Given the description of an element on the screen output the (x, y) to click on. 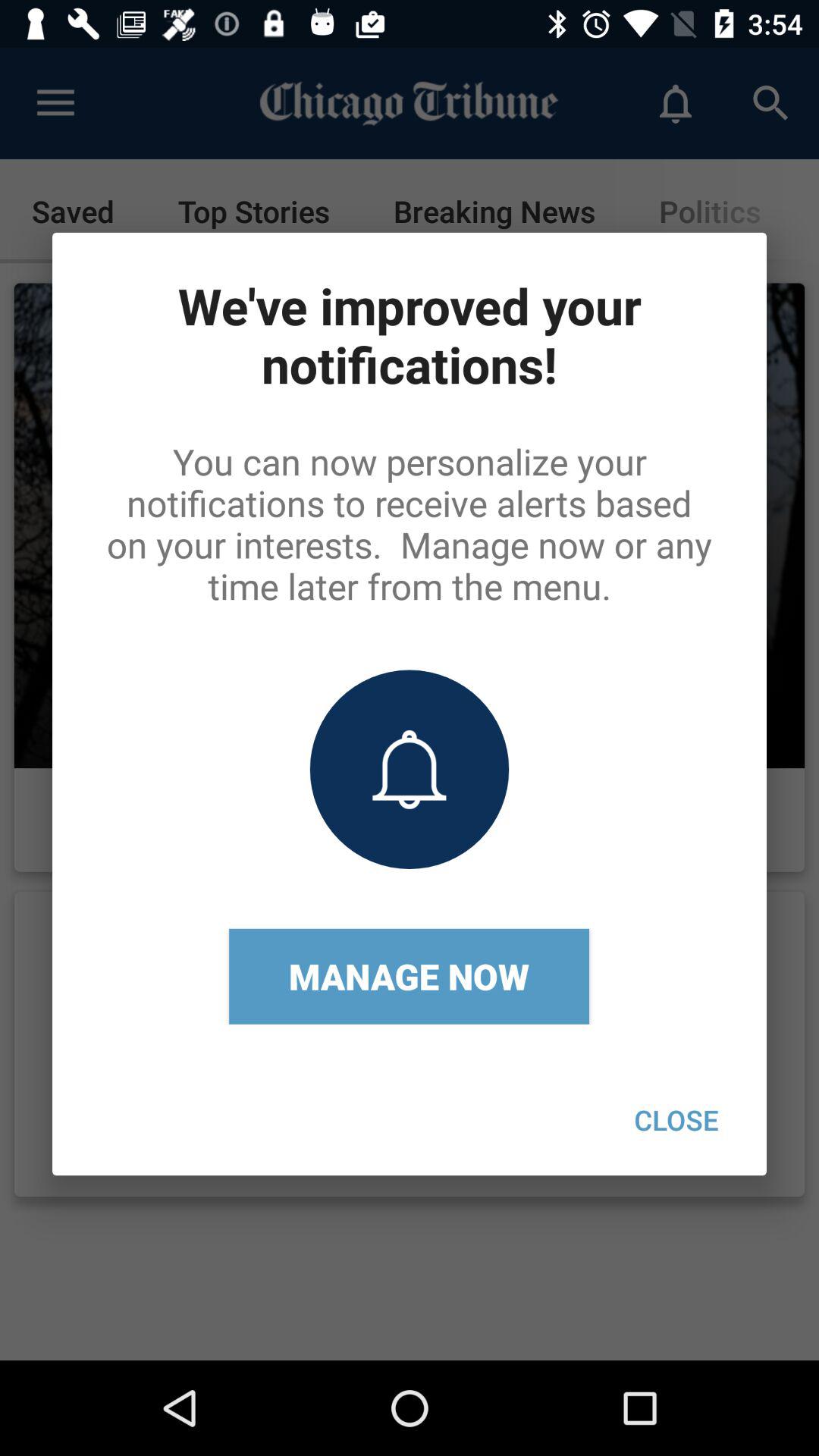
open item at the bottom right corner (676, 1119)
